Given the description of an element on the screen output the (x, y) to click on. 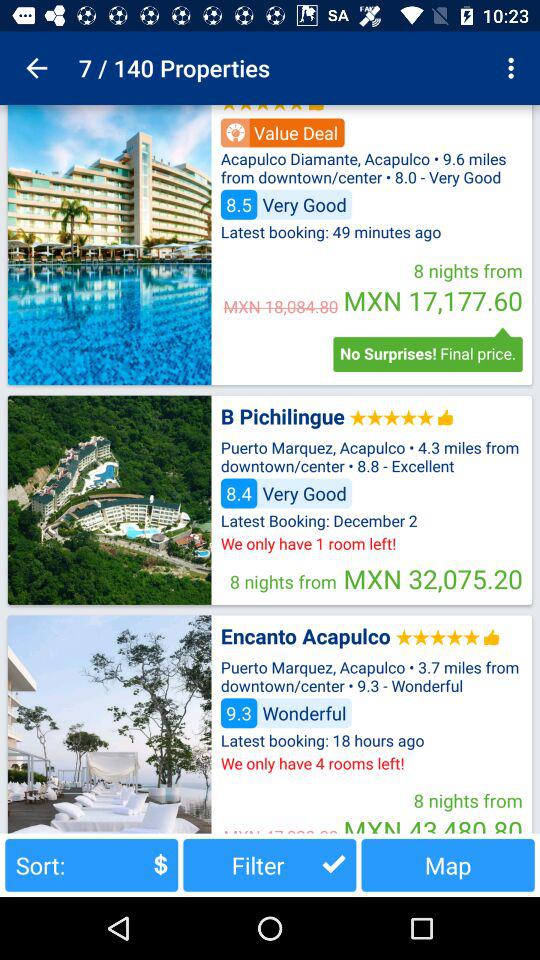
advertisement (109, 245)
